Given the description of an element on the screen output the (x, y) to click on. 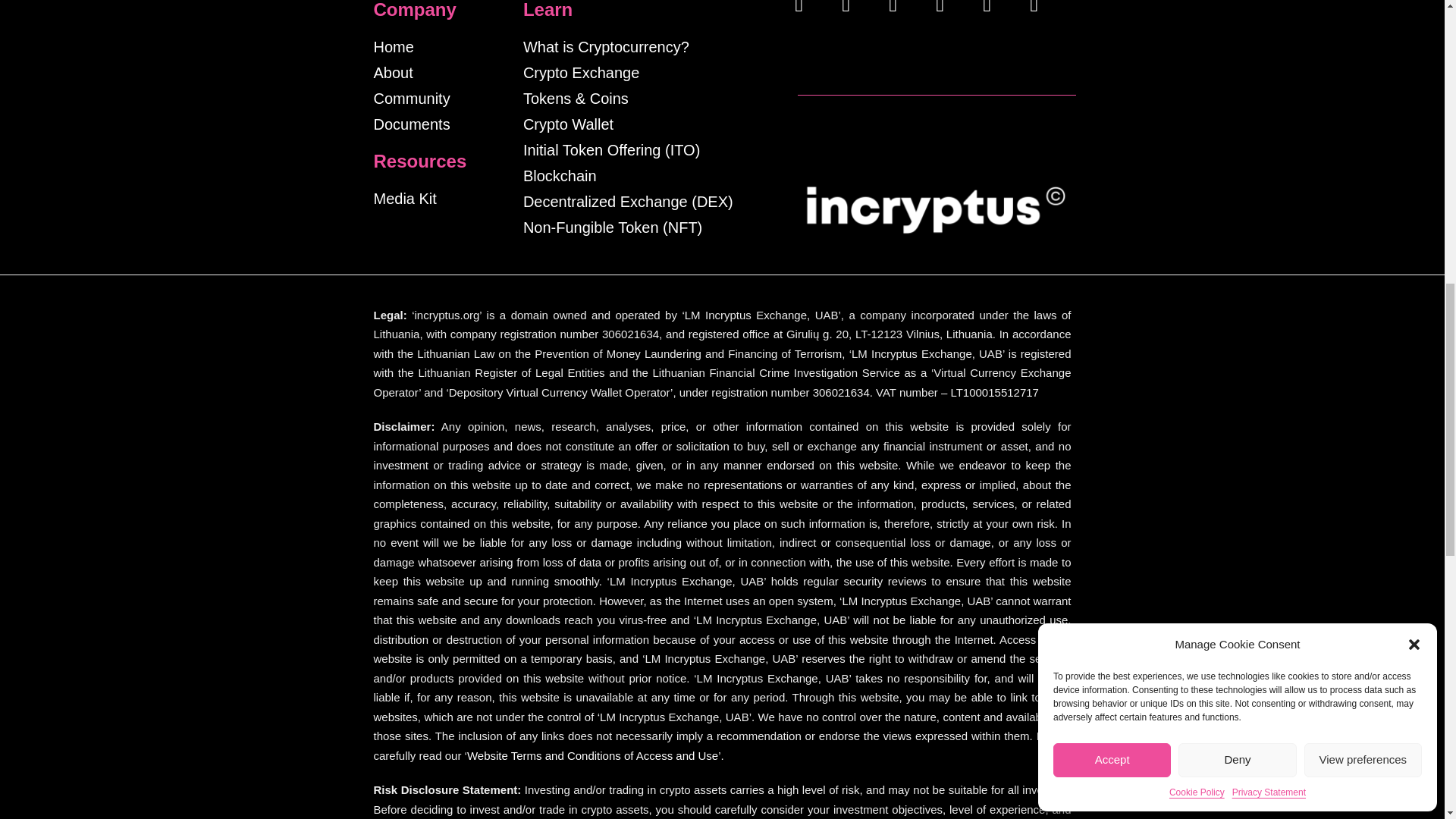
About (392, 72)
Documents (410, 124)
What is Cryptocurrency? (605, 46)
Community (410, 98)
Blockchain (559, 175)
Crypto Wallet (567, 124)
Home (392, 46)
Media Kit (403, 198)
Crypto Exchange (580, 72)
